Given the description of an element on the screen output the (x, y) to click on. 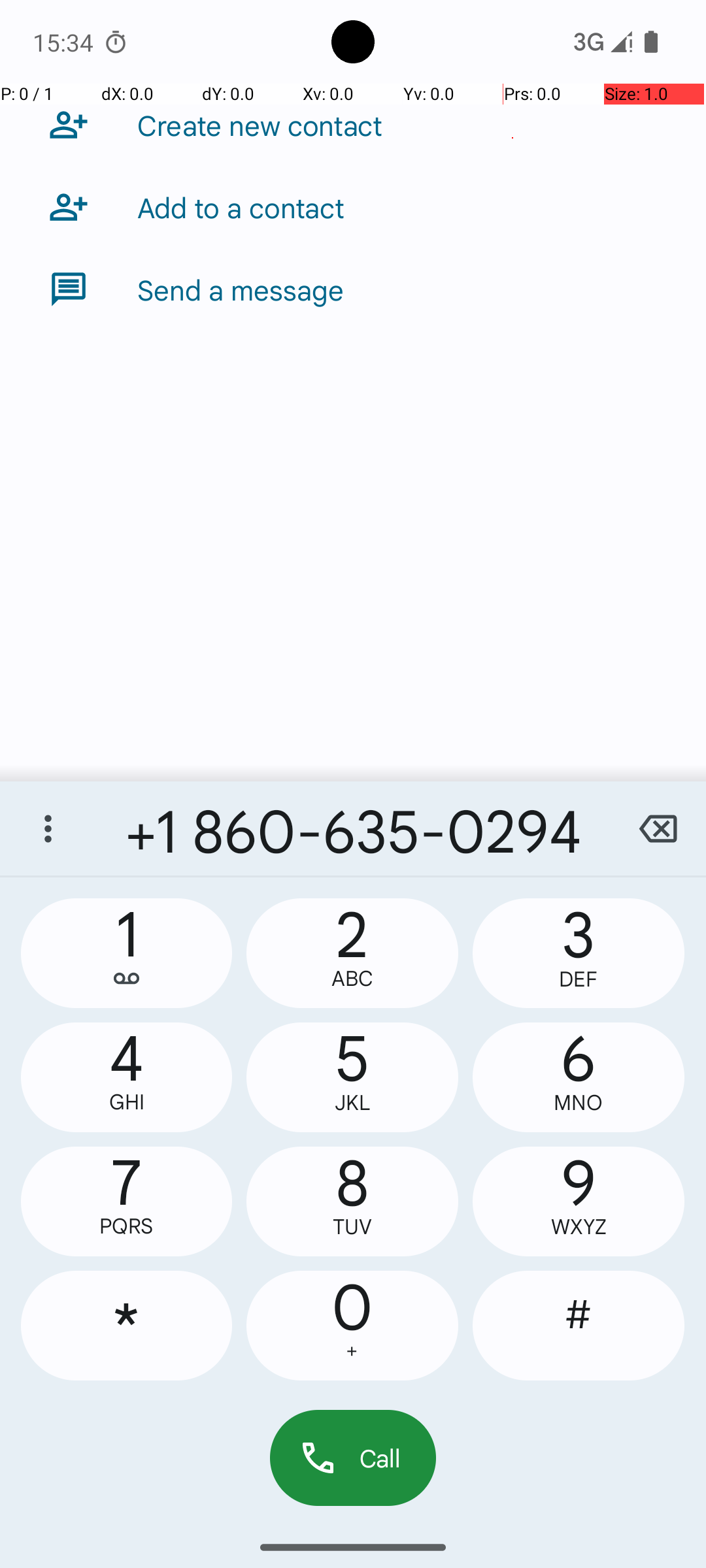
+1 860-635-0294 Element type: android.widget.EditText (352, 828)
